Given the description of an element on the screen output the (x, y) to click on. 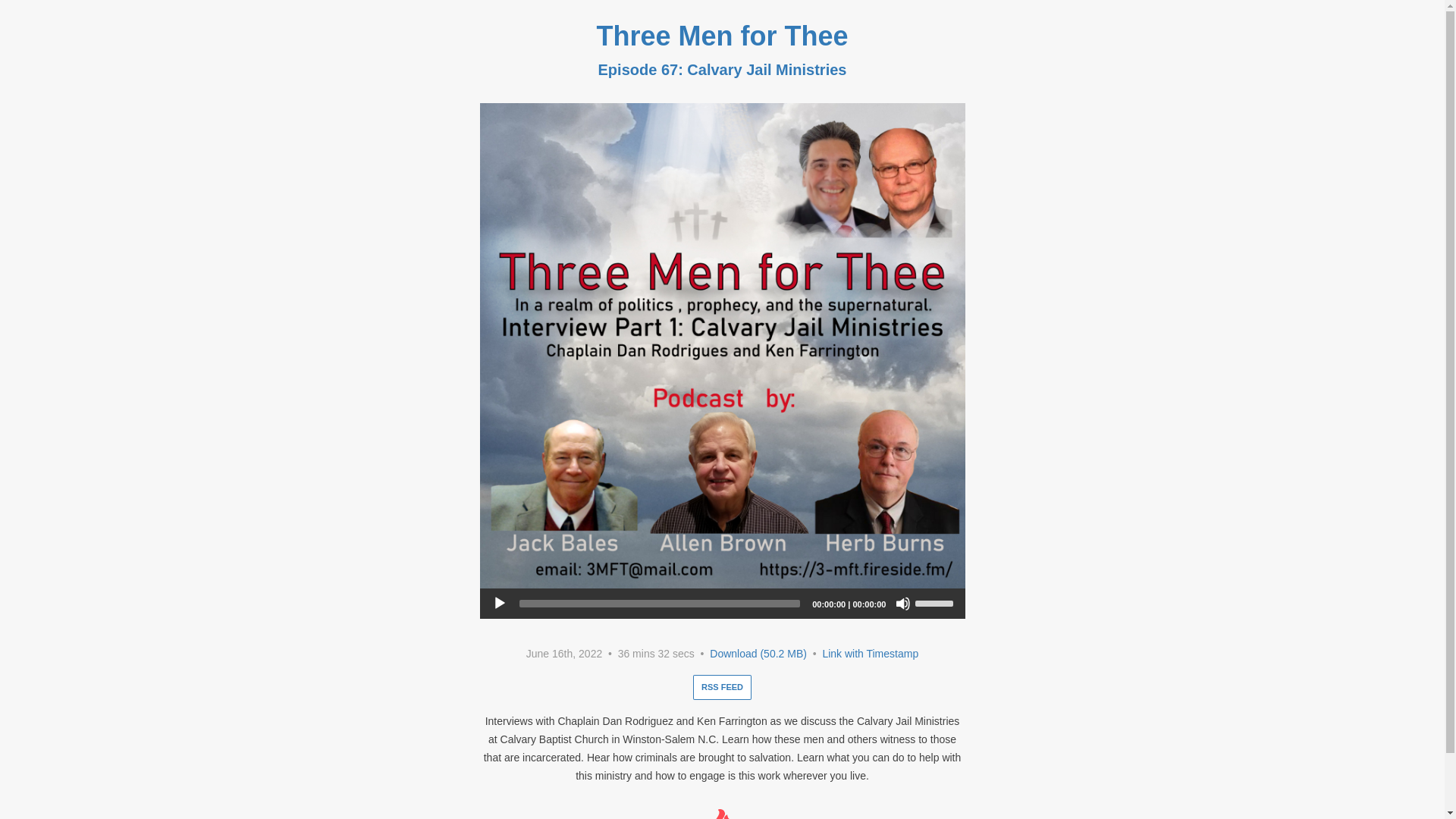
Episode 67: Calvary Jail Ministries (722, 69)
Mute (902, 603)
RSS FEED (722, 687)
Play (499, 603)
Three Men for Thee (721, 35)
Link with Timestamp (870, 653)
